Given the description of an element on the screen output the (x, y) to click on. 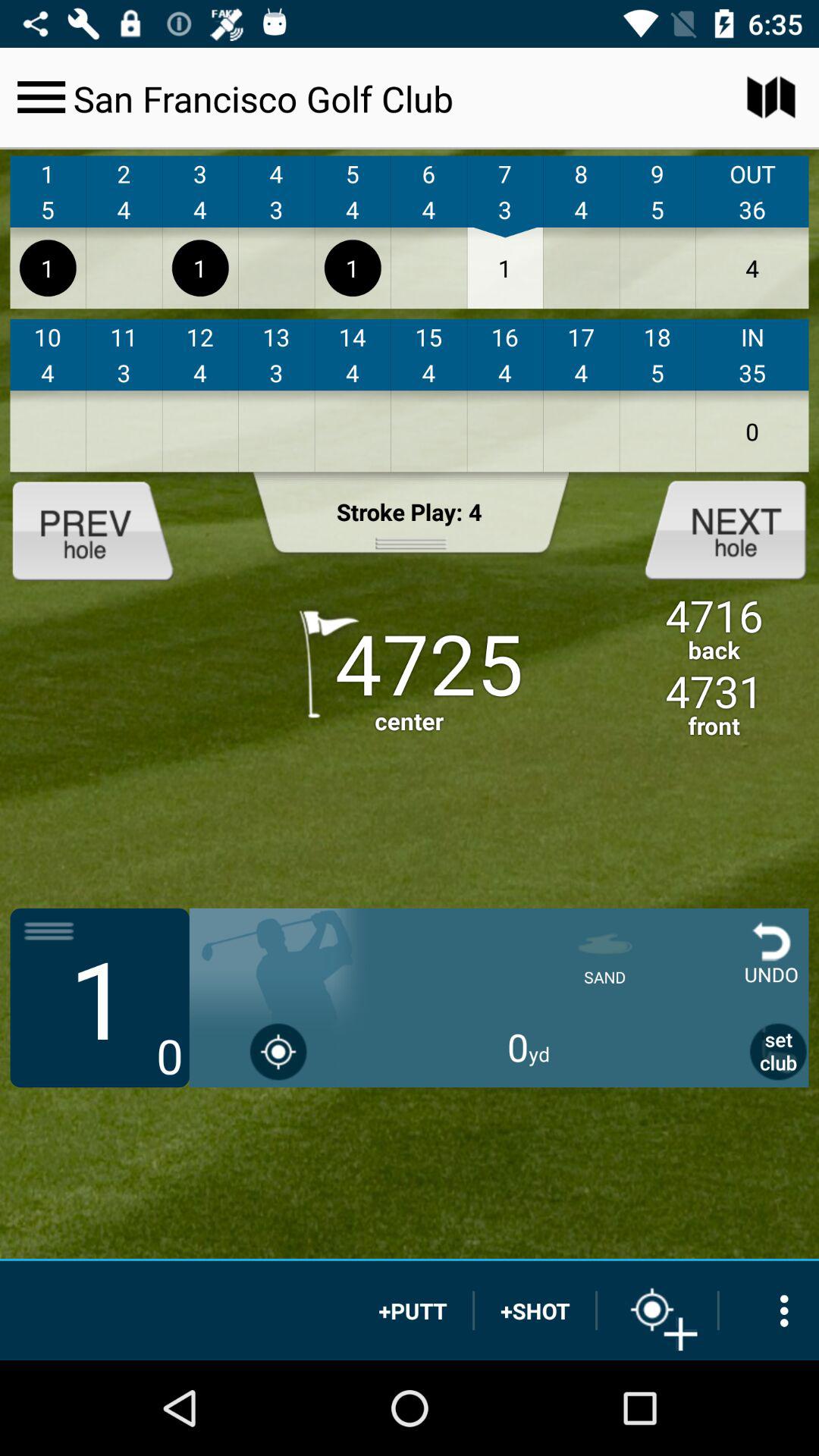
location gps add (657, 1310)
